Given the description of an element on the screen output the (x, y) to click on. 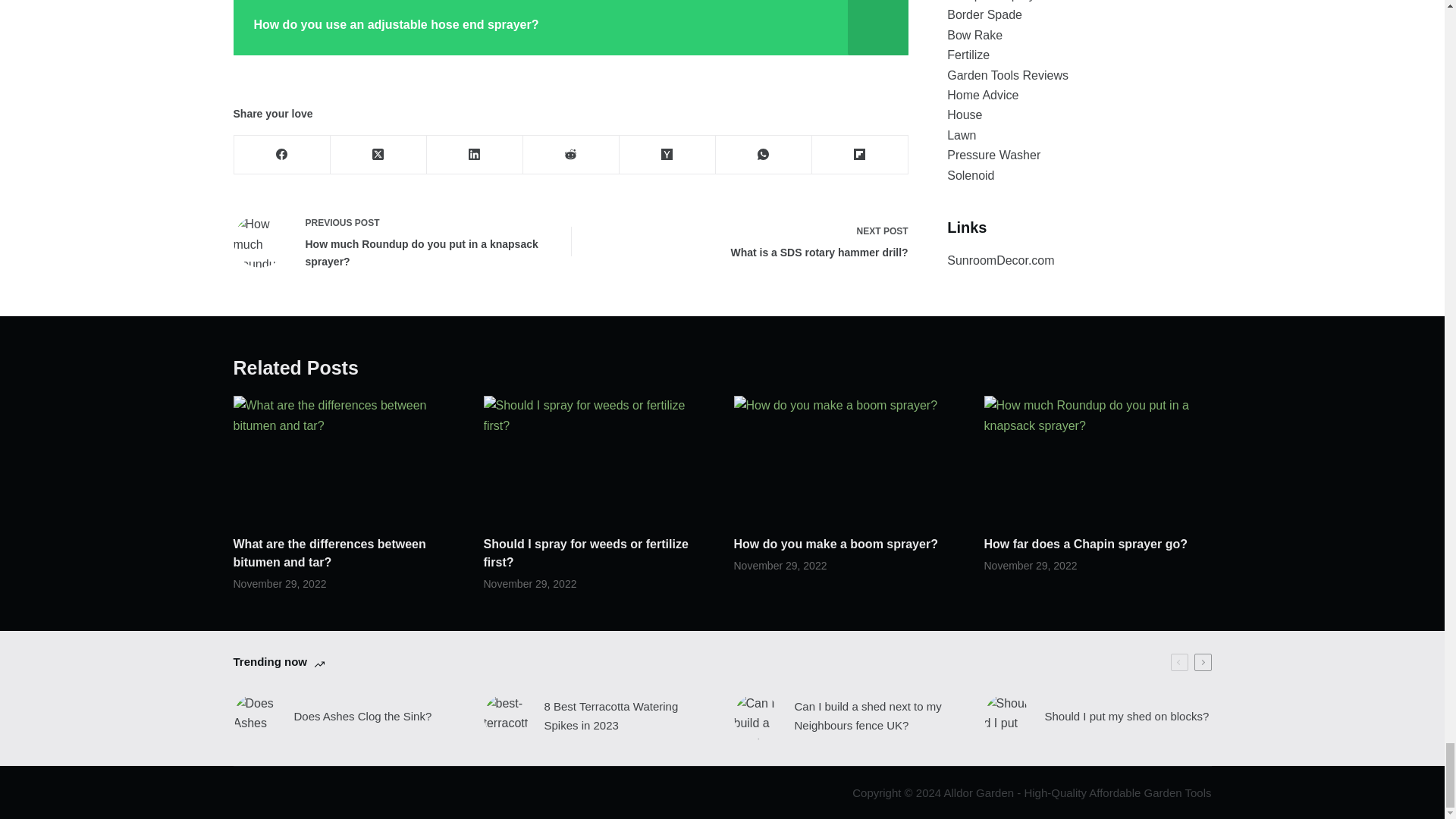
  How do you use an adjustable hose end sprayer? (751, 241)
